Given the description of an element on the screen output the (x, y) to click on. 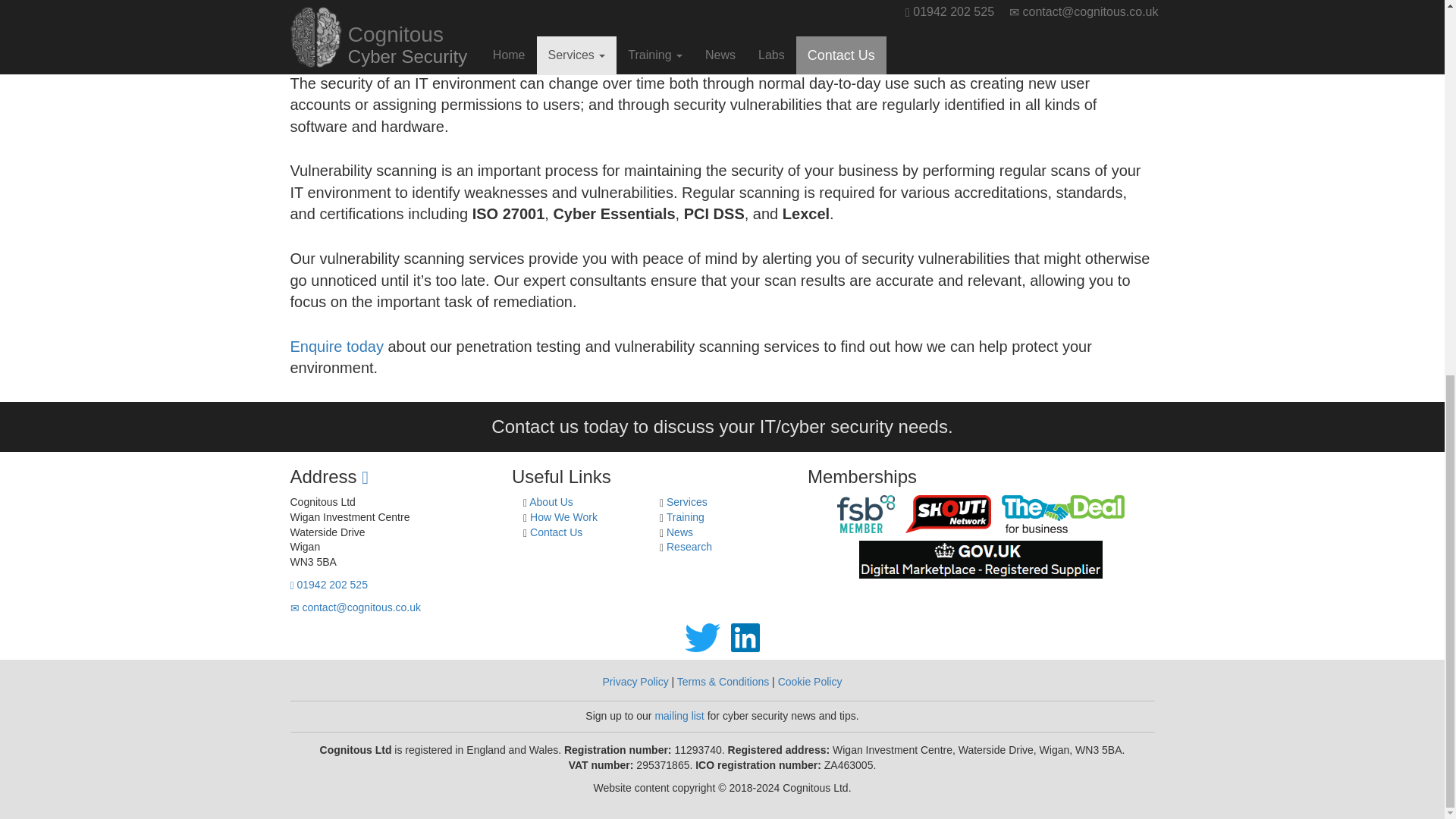
Services (686, 501)
01942 202 525 (327, 584)
About Us (551, 501)
Contact Us (555, 532)
How We Work (562, 517)
Research (688, 546)
News (679, 532)
Training (685, 517)
Enquire today (335, 346)
